Given the description of an element on the screen output the (x, y) to click on. 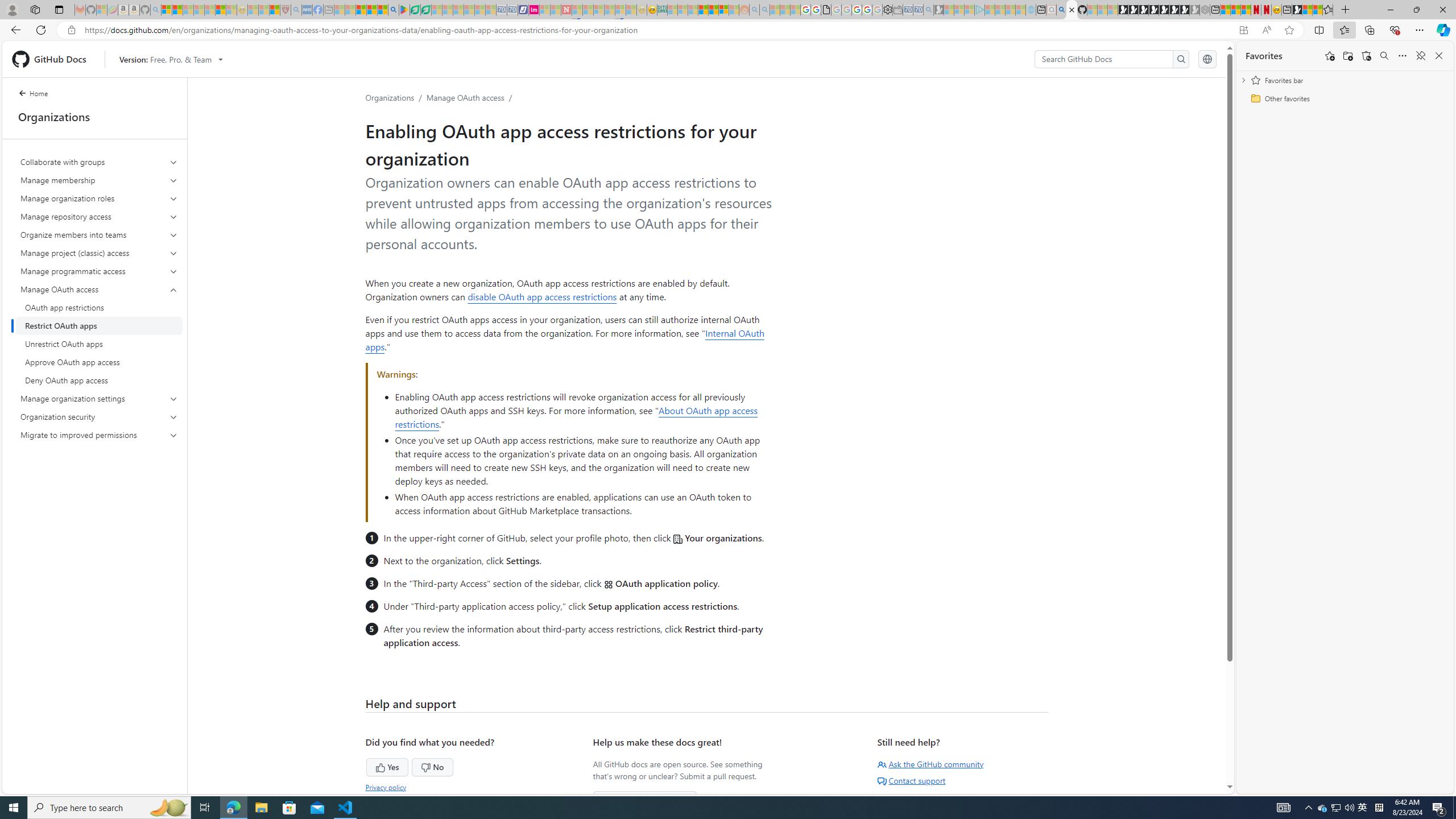
Migrate to improved permissions (99, 434)
Robert H. Shmerling, MD - Harvard Health - Sleeping (285, 9)
Trusted Community Engagement and Contributions | Guidelines (577, 9)
Manage OAuth access (99, 334)
Collaborate with groups (99, 162)
google_privacy_policy_zh-CN.pdf (825, 9)
